Given the description of an element on the screen output the (x, y) to click on. 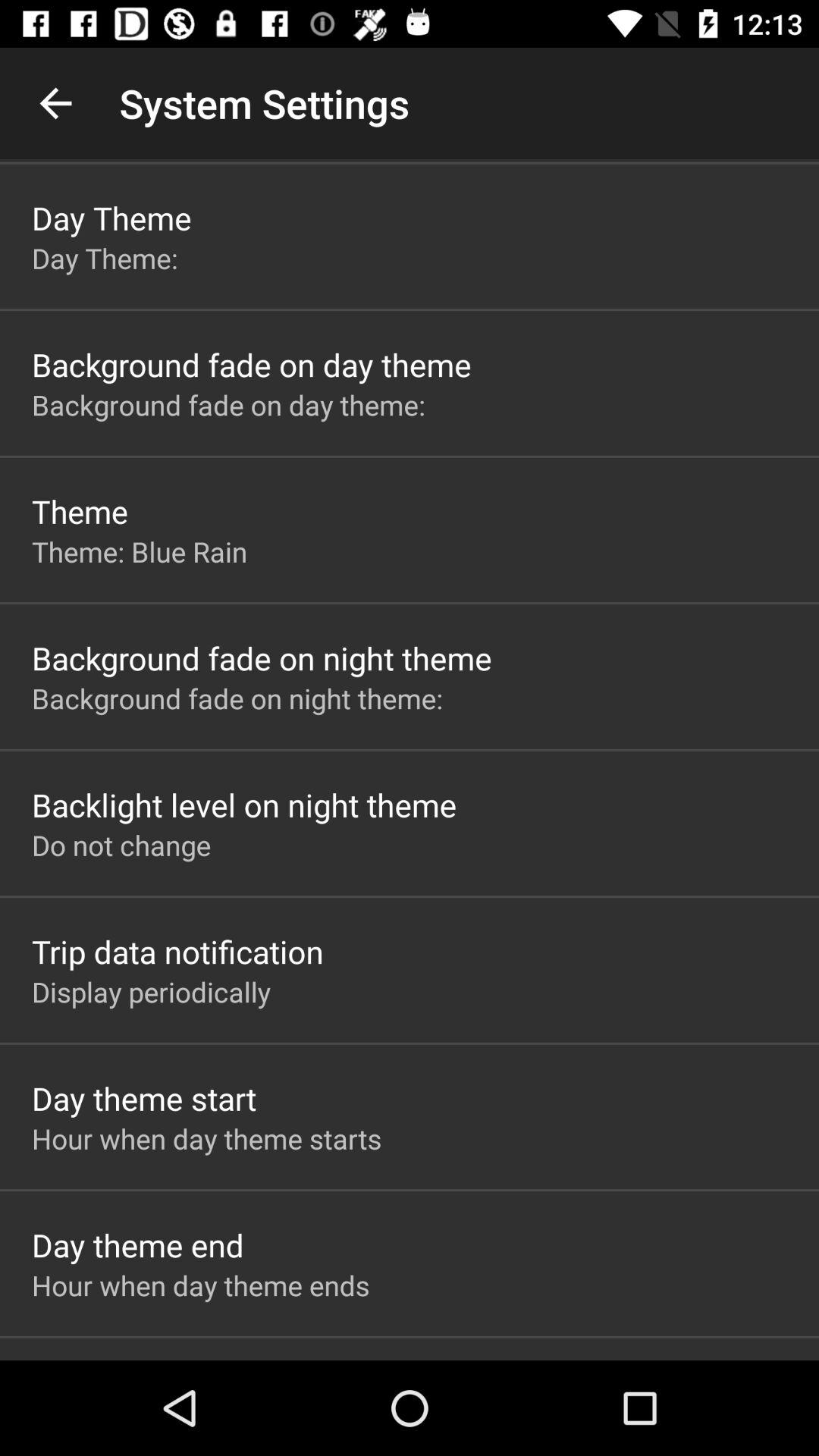
turn on item below background fade on icon (243, 804)
